Given the description of an element on the screen output the (x, y) to click on. 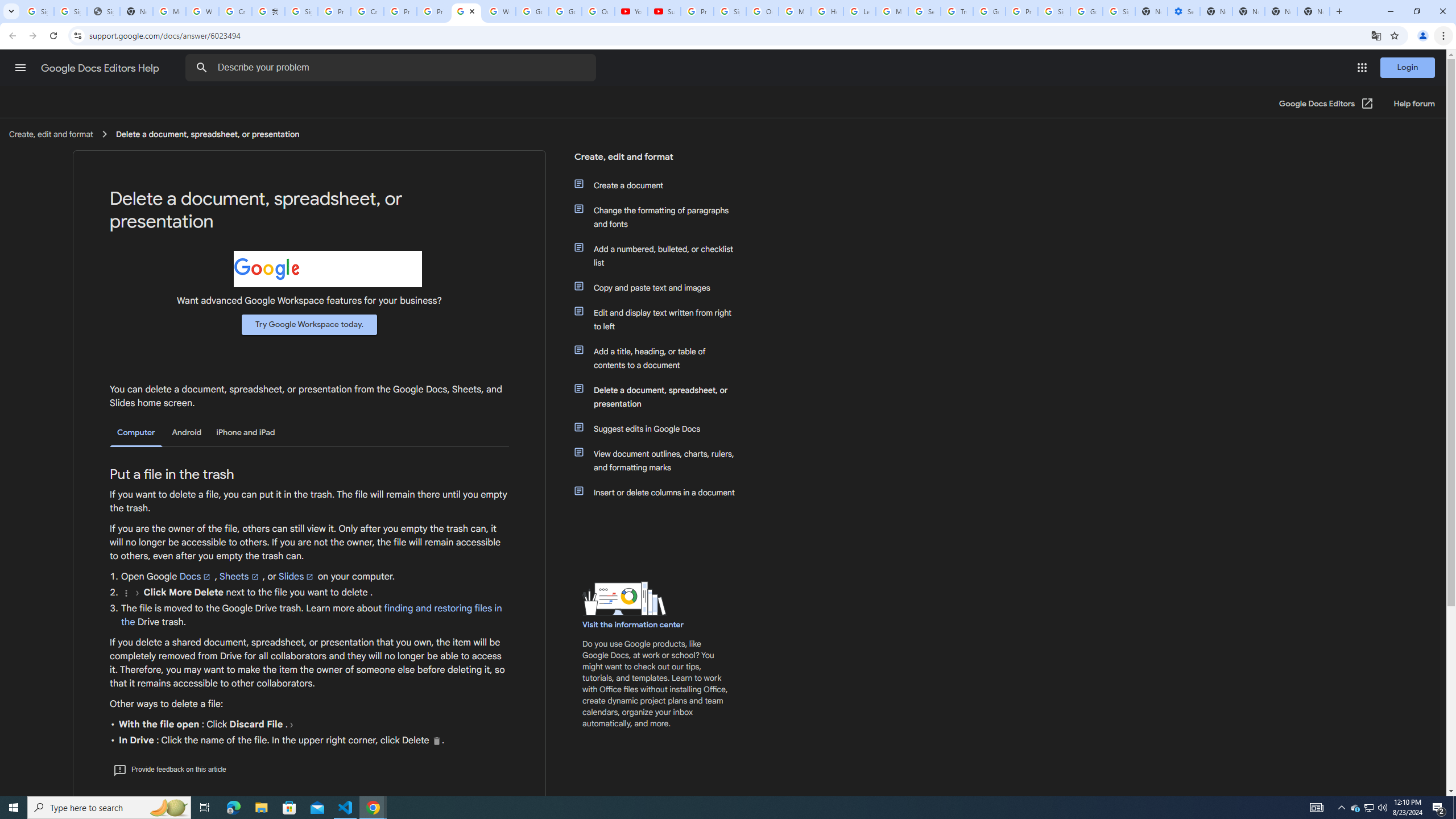
Add a title, heading, or table of contents to a document (661, 358)
Sign In - USA TODAY (103, 11)
Sign in - Google Accounts (37, 11)
Slides (296, 576)
Search our Doodle Library Collection - Google Doodles (924, 11)
More (125, 592)
and then (290, 724)
Login (1407, 67)
Suggest edits in Google Docs (661, 428)
Create your Google Account (367, 11)
Welcome to My Activity (499, 11)
